Given the description of an element on the screen output the (x, y) to click on. 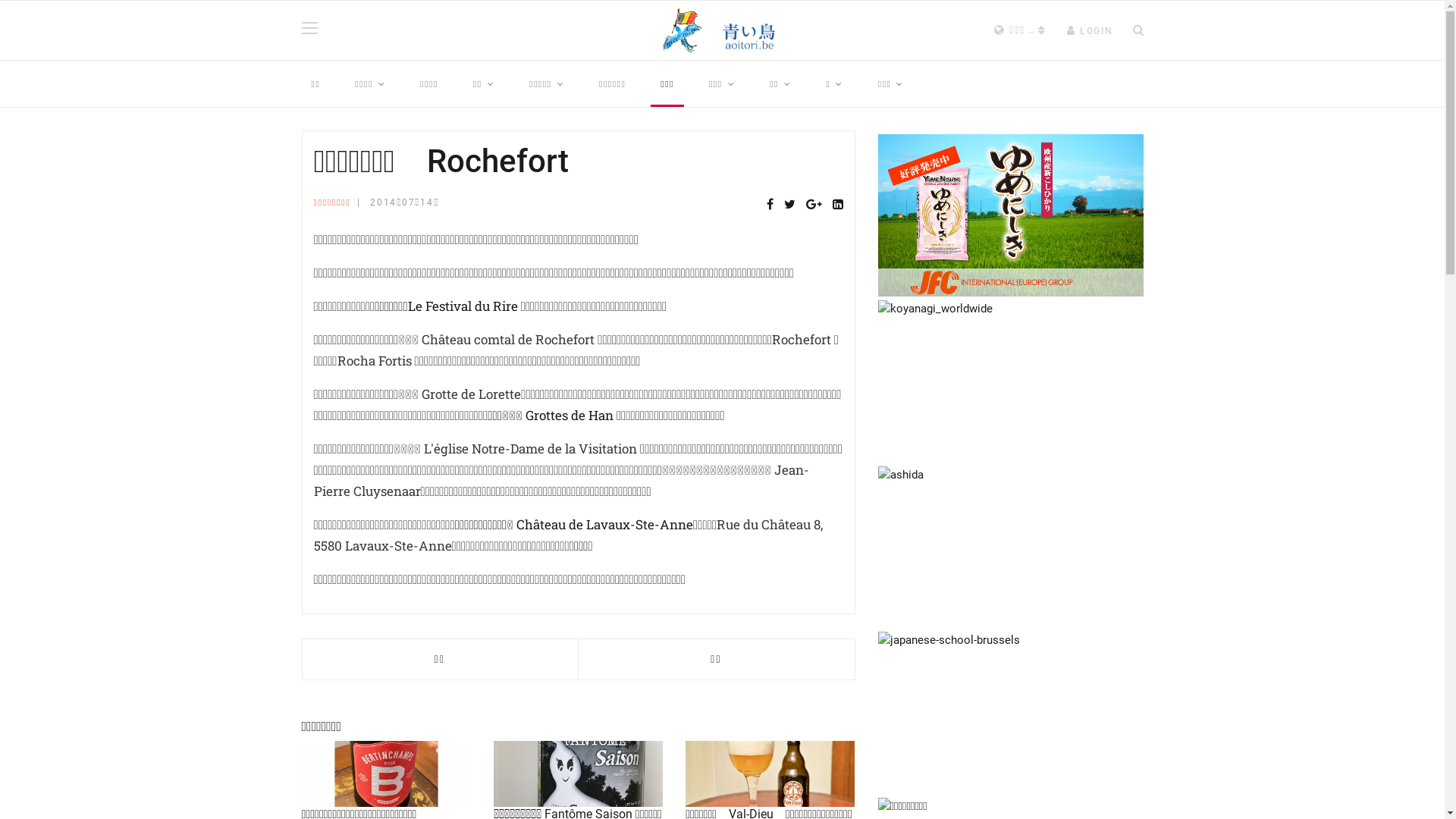
Twitter Element type: hover (789, 204)
Ashida 2019 Element type: hover (1010, 547)
Google Plus Element type: hover (813, 204)
Koyanagi2019 Element type: hover (1010, 381)
Yumenishiki 2021 Element type: hover (1010, 215)
LOGIN Element type: text (1089, 30)
Japanese School Brussels Element type: hover (1010, 712)
LinkedIn Element type: hover (837, 204)
Facebook Element type: hover (768, 204)
